Given the description of an element on the screen output the (x, y) to click on. 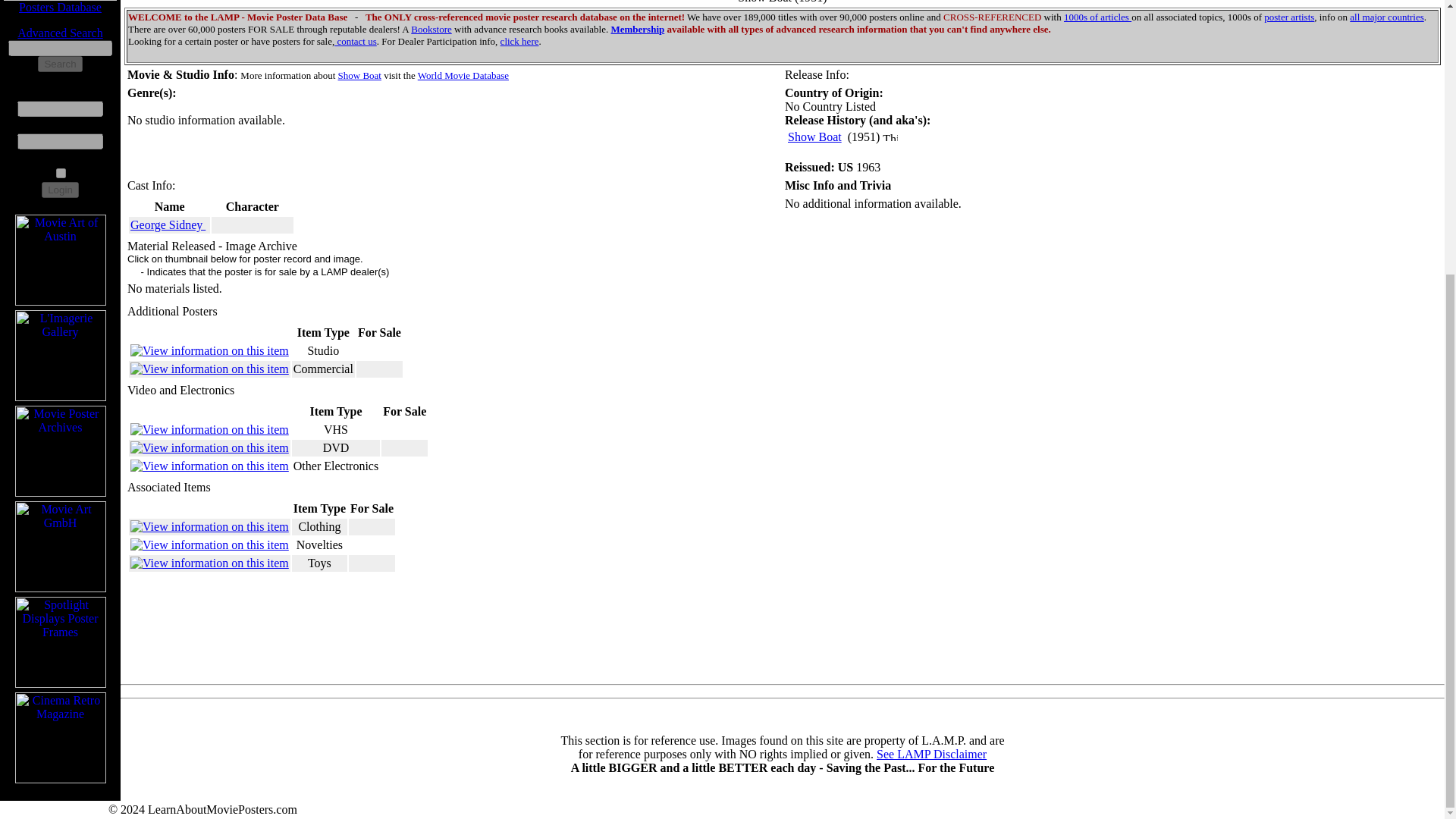
Search (59, 64)
Search (59, 64)
Login (60, 189)
Login (60, 189)
1000s of articles (1097, 16)
Show Boat (814, 136)
World Movie Database (462, 75)
Show Boat (359, 75)
Posters Database (59, 6)
contact us (355, 41)
Advanced Search (59, 32)
click here (519, 41)
yes (60, 173)
Bookstore (430, 29)
all major countries (1386, 16)
